Given the description of an element on the screen output the (x, y) to click on. 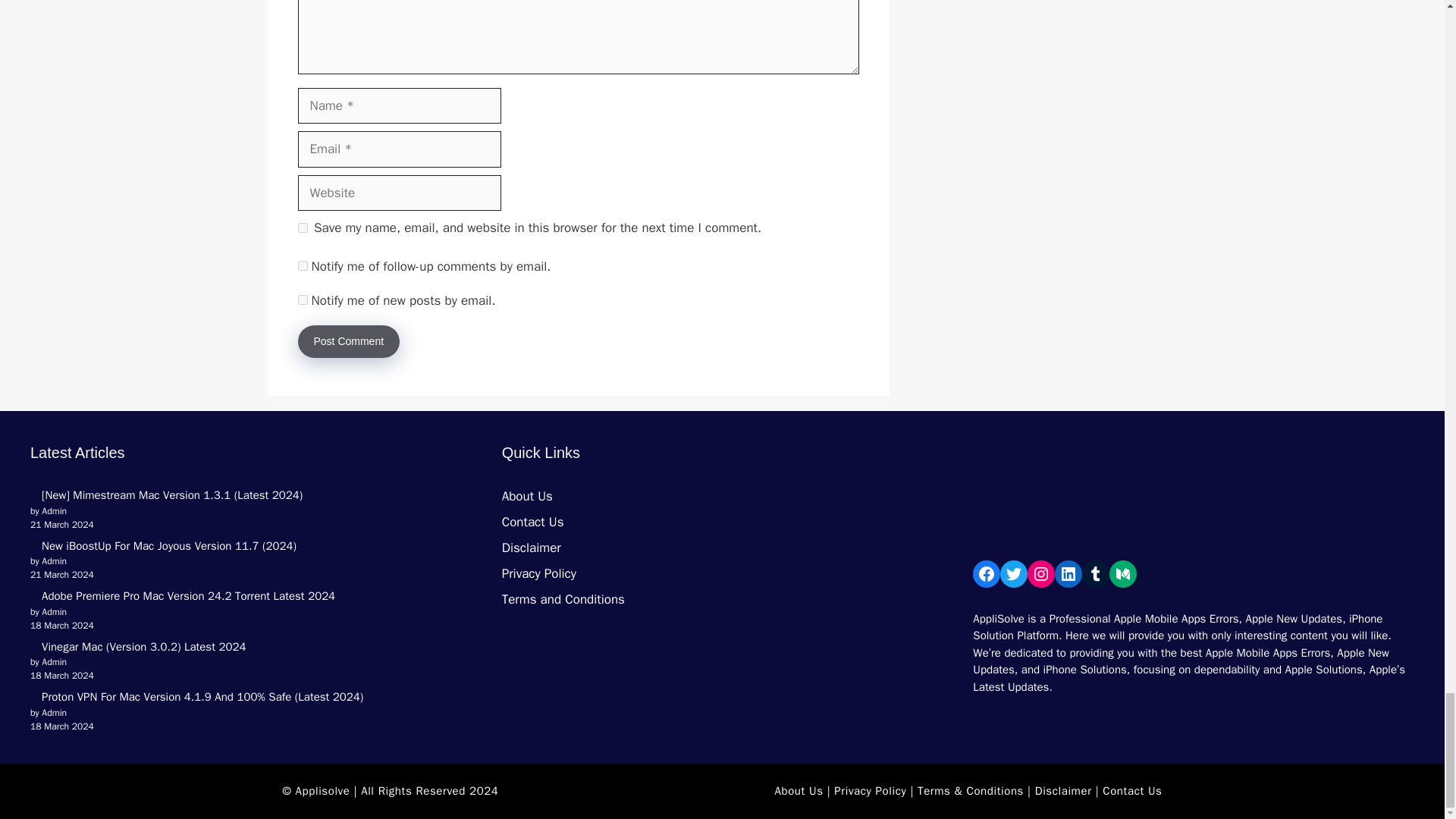
Post Comment (347, 341)
yes (302, 227)
subscribe (302, 266)
subscribe (302, 299)
Post Comment (347, 341)
